Given the description of an element on the screen output the (x, y) to click on. 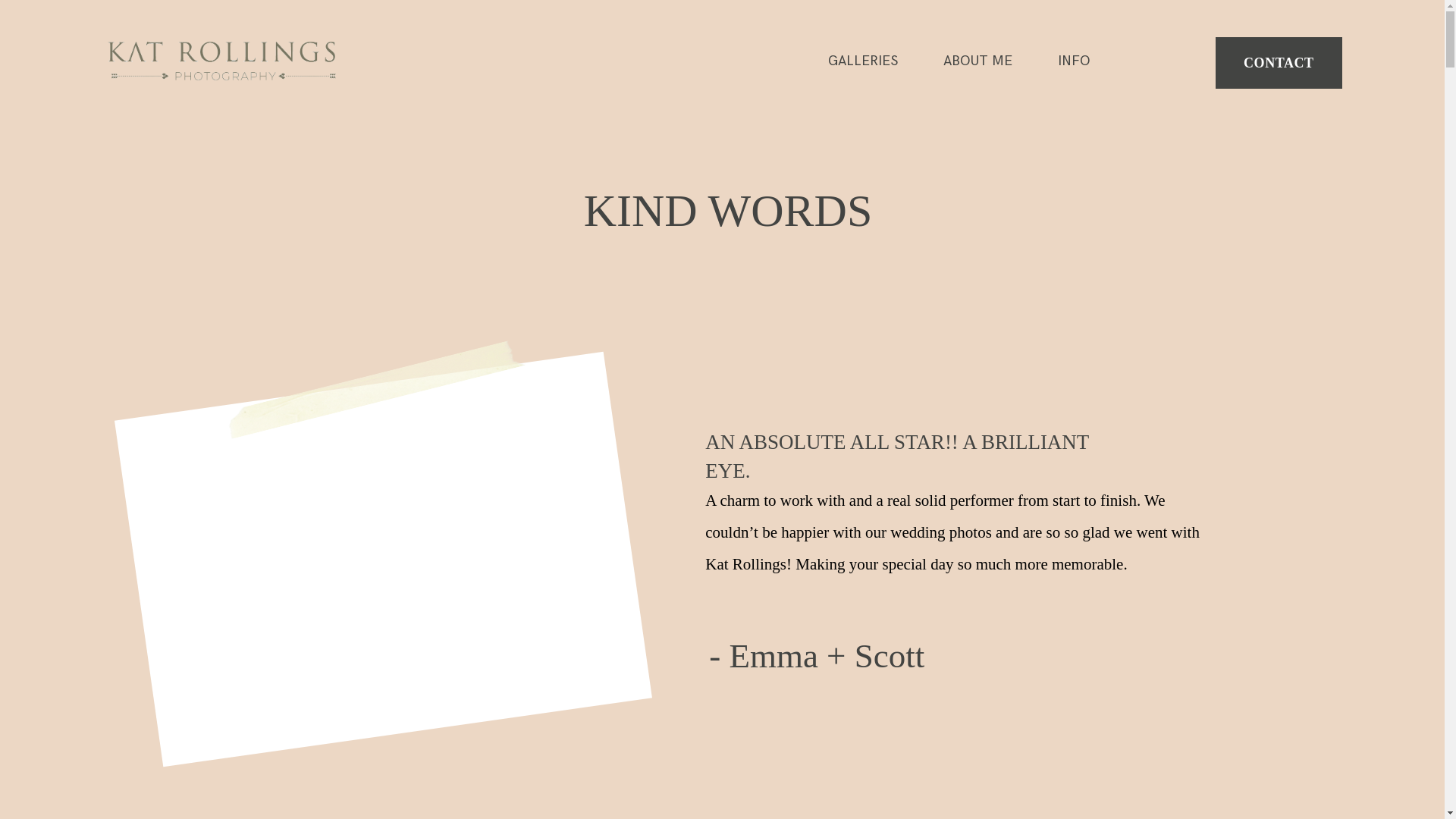
CONTACT Element type: text (1278, 62)
ABOUT ME Element type: text (977, 61)
INFO Element type: text (1073, 61)
GALLERIES Element type: text (862, 61)
